Given the description of an element on the screen output the (x, y) to click on. 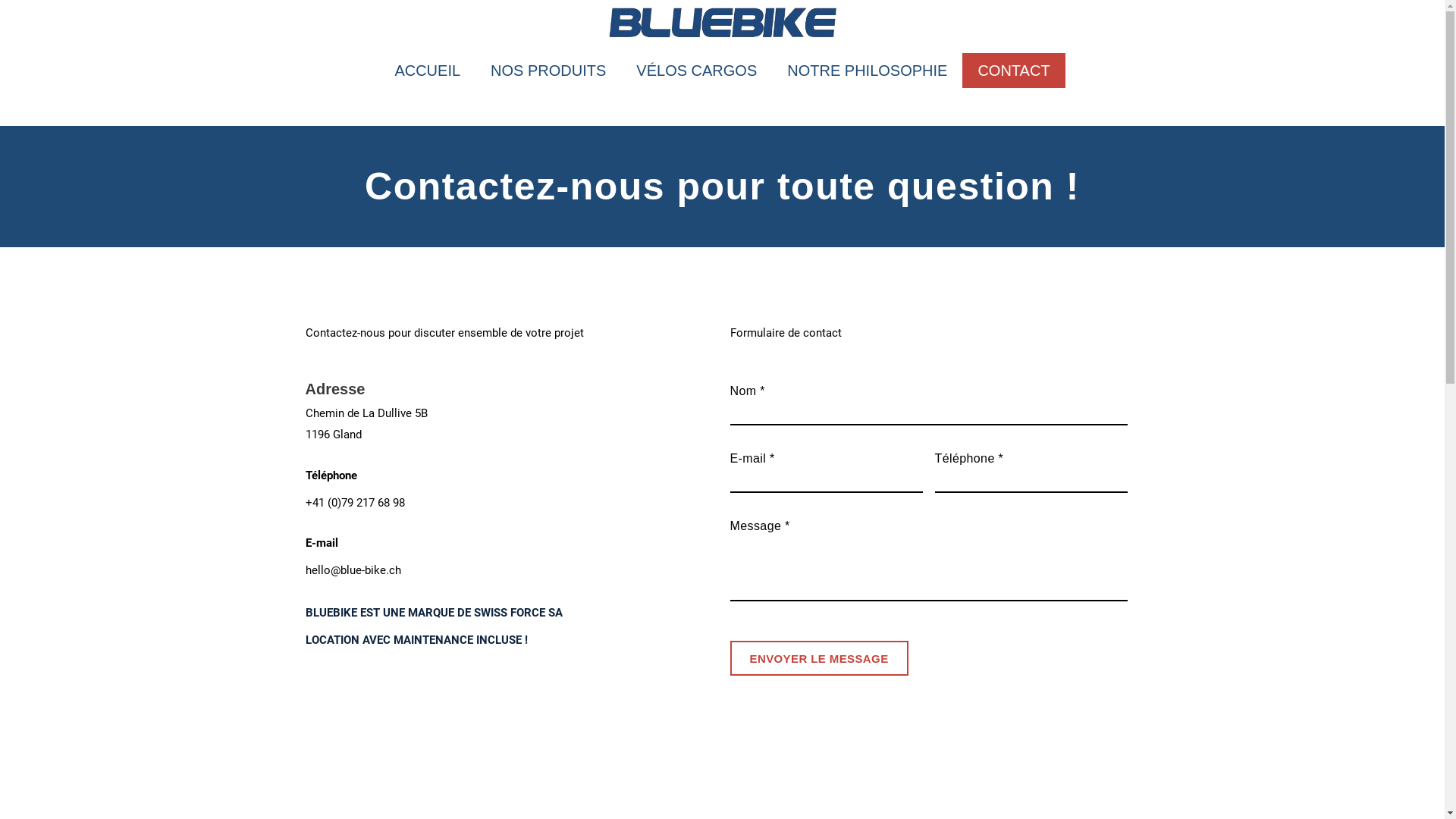
NOTRE PHILOSOPHIE Element type: text (866, 70)
ACCUEIL Element type: text (427, 70)
+41 (0)79 217 68 98 Element type: text (354, 502)
CONTACT Element type: text (1013, 70)
NOS PRODUITS Element type: text (548, 70)
Envoyer le message Element type: text (818, 657)
